Given the description of an element on the screen output the (x, y) to click on. 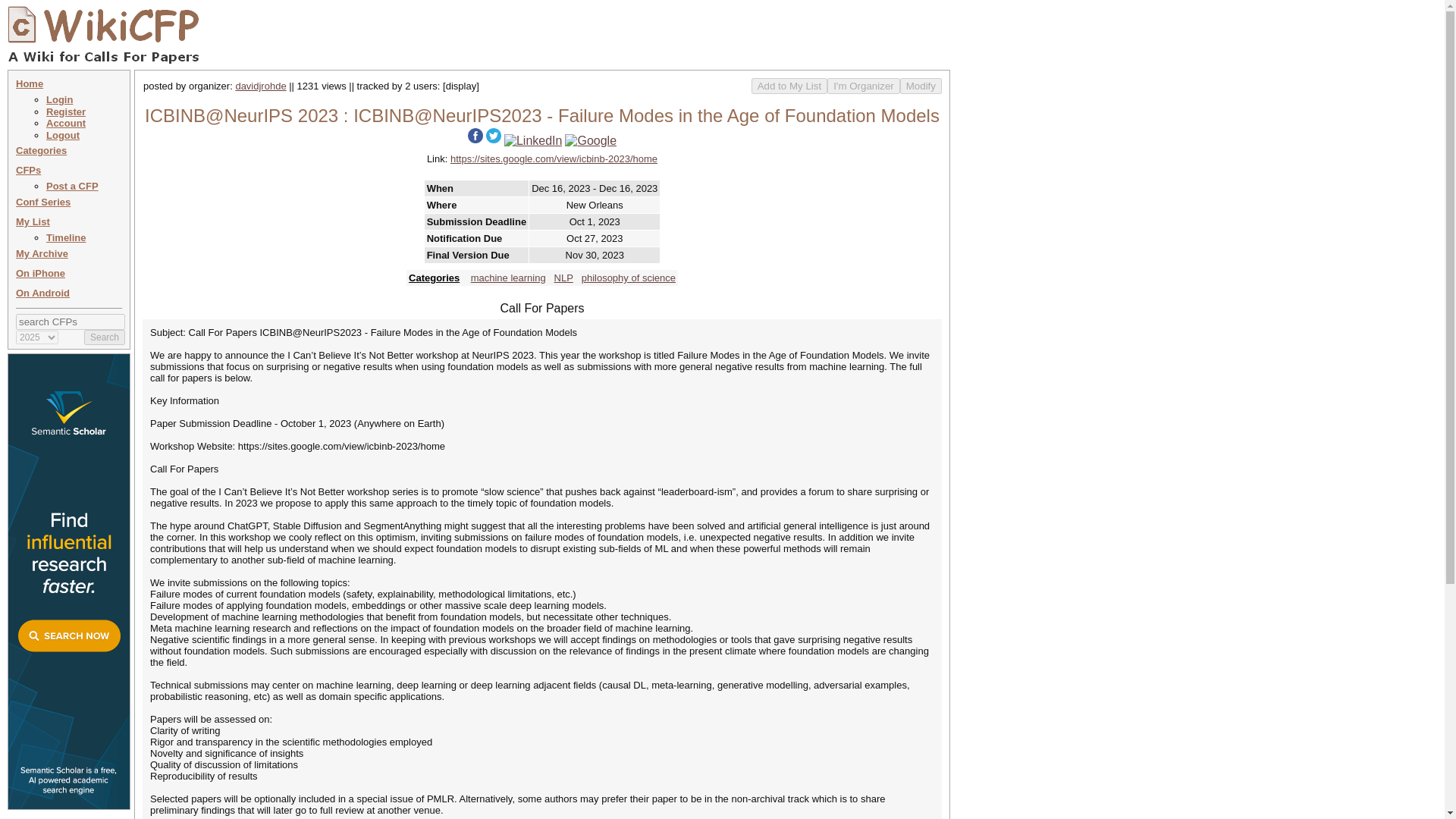
NLP (563, 277)
I'm Organizer (863, 85)
Home (29, 83)
Logout (63, 134)
Timeline (65, 237)
Login (59, 99)
Search (104, 337)
Categories (41, 150)
I'm Organizer (863, 85)
My List (32, 221)
